Given the description of an element on the screen output the (x, y) to click on. 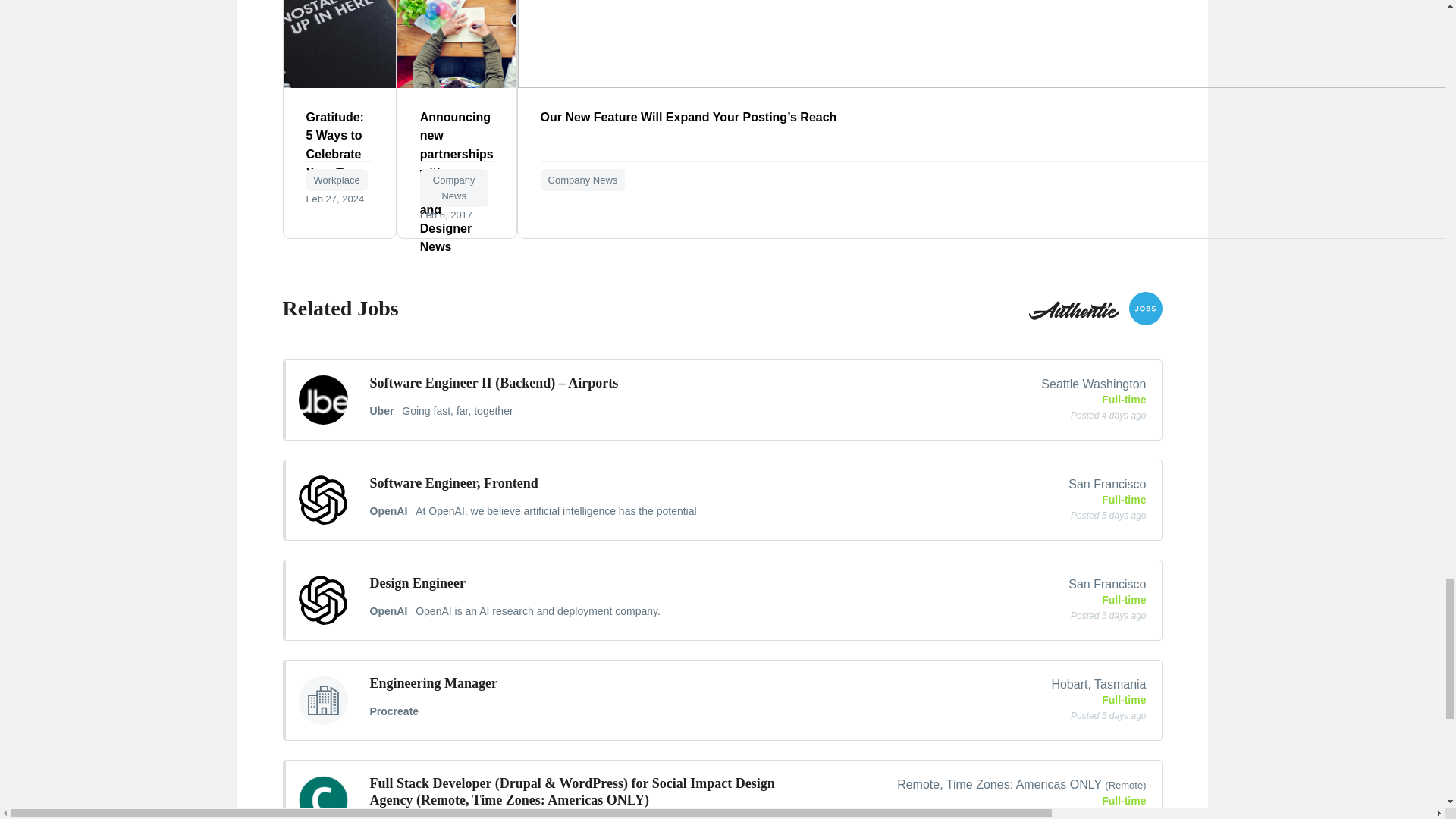
Announcing new partnerships with Dribbble and Designer News (456, 83)
Workplace (336, 179)
Company News (583, 179)
Company News (453, 187)
Gratitude: 5 Ways to Celebrate Your Team (339, 83)
